Given the description of an element on the screen output the (x, y) to click on. 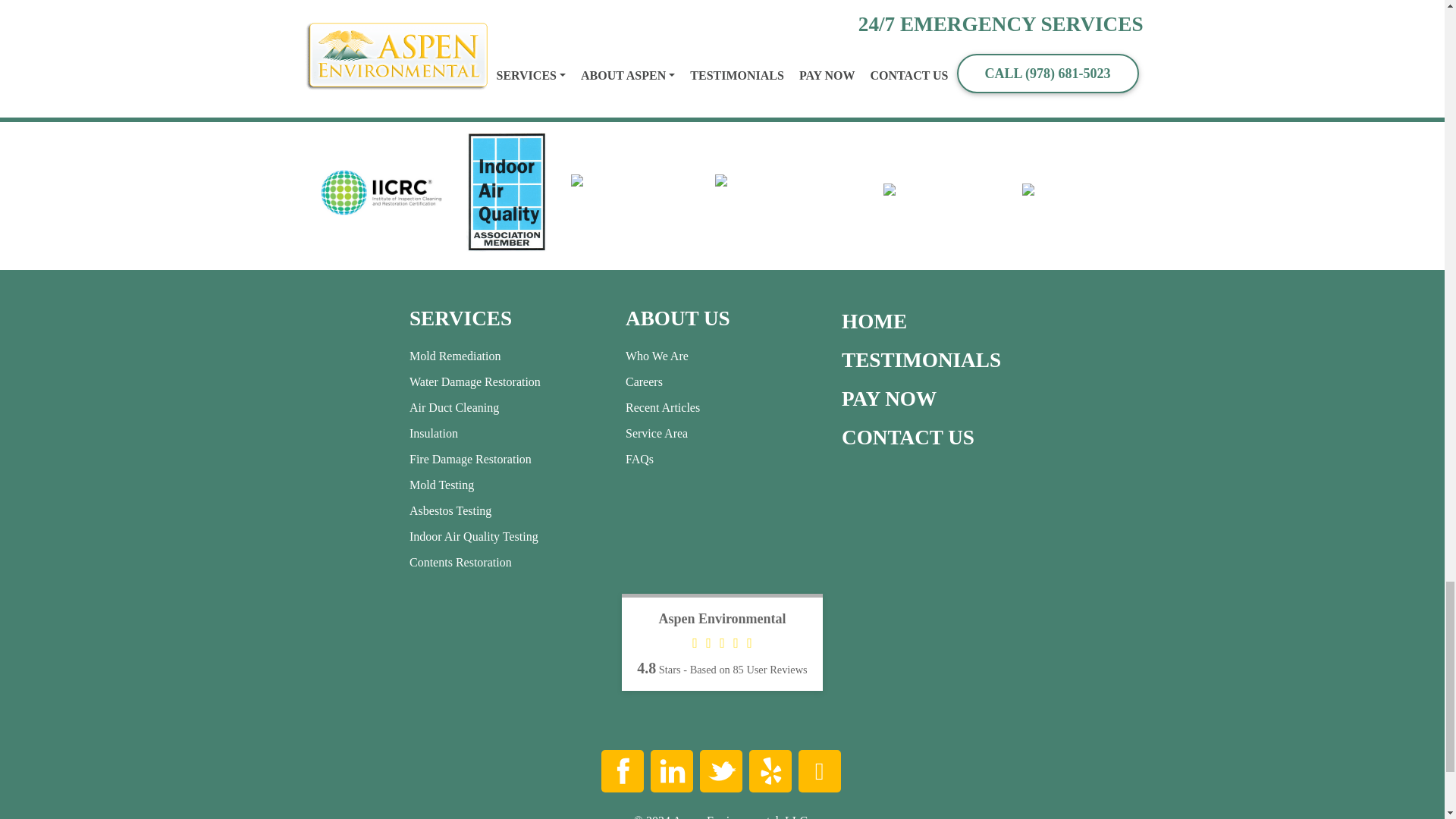
commercial air duct cleaning (577, 9)
AeroSeal duct sealing (360, 0)
Air Duct Cleaning (468, 0)
asthma (645, 0)
allergies (598, 0)
allergens (545, 0)
Building ventilation (721, 0)
